Given the description of an element on the screen output the (x, y) to click on. 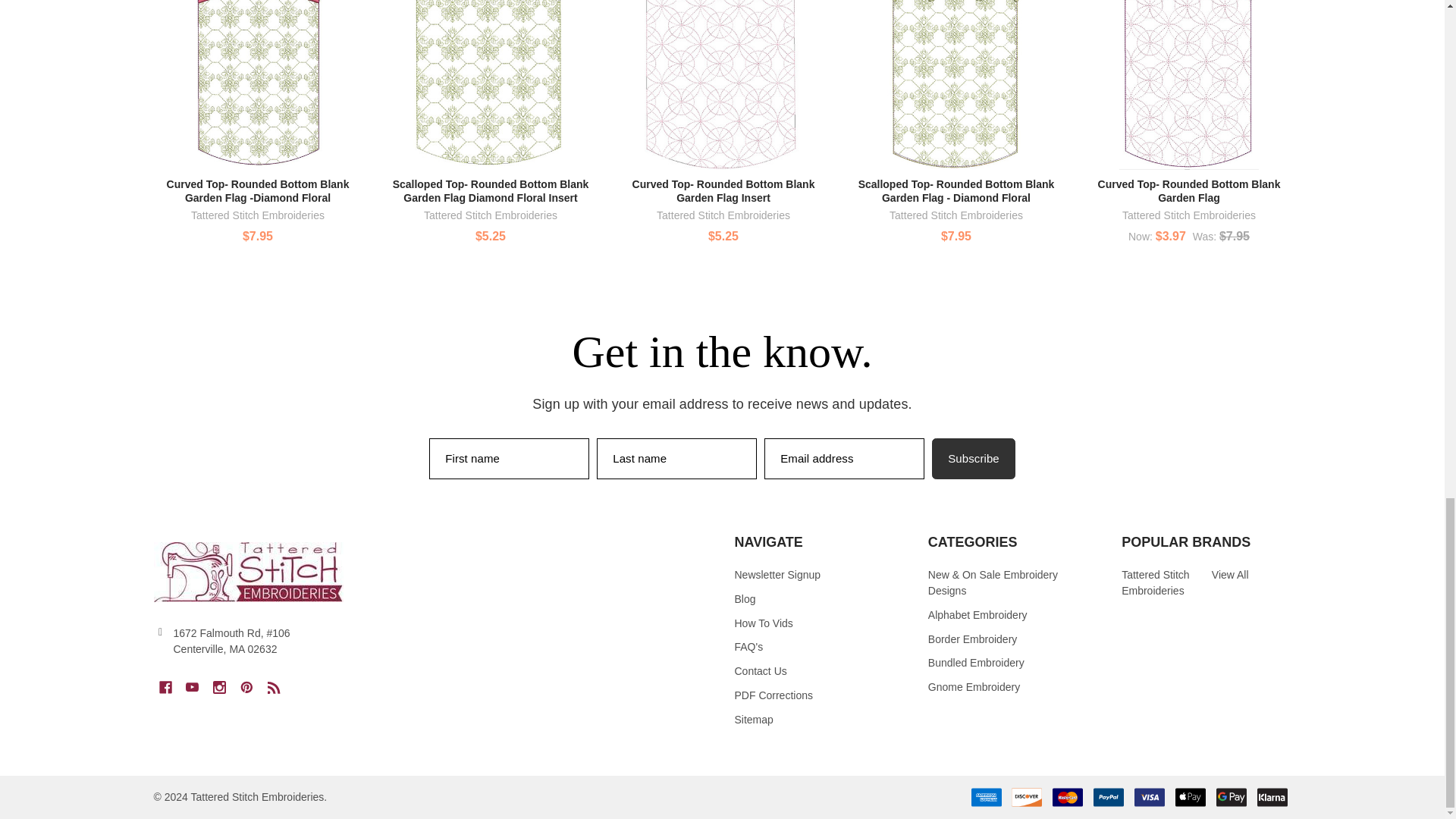
 Curved Top- Rounded Bottom Blank Garden Flag  Insert (722, 84)
